Given the description of an element on the screen output the (x, y) to click on. 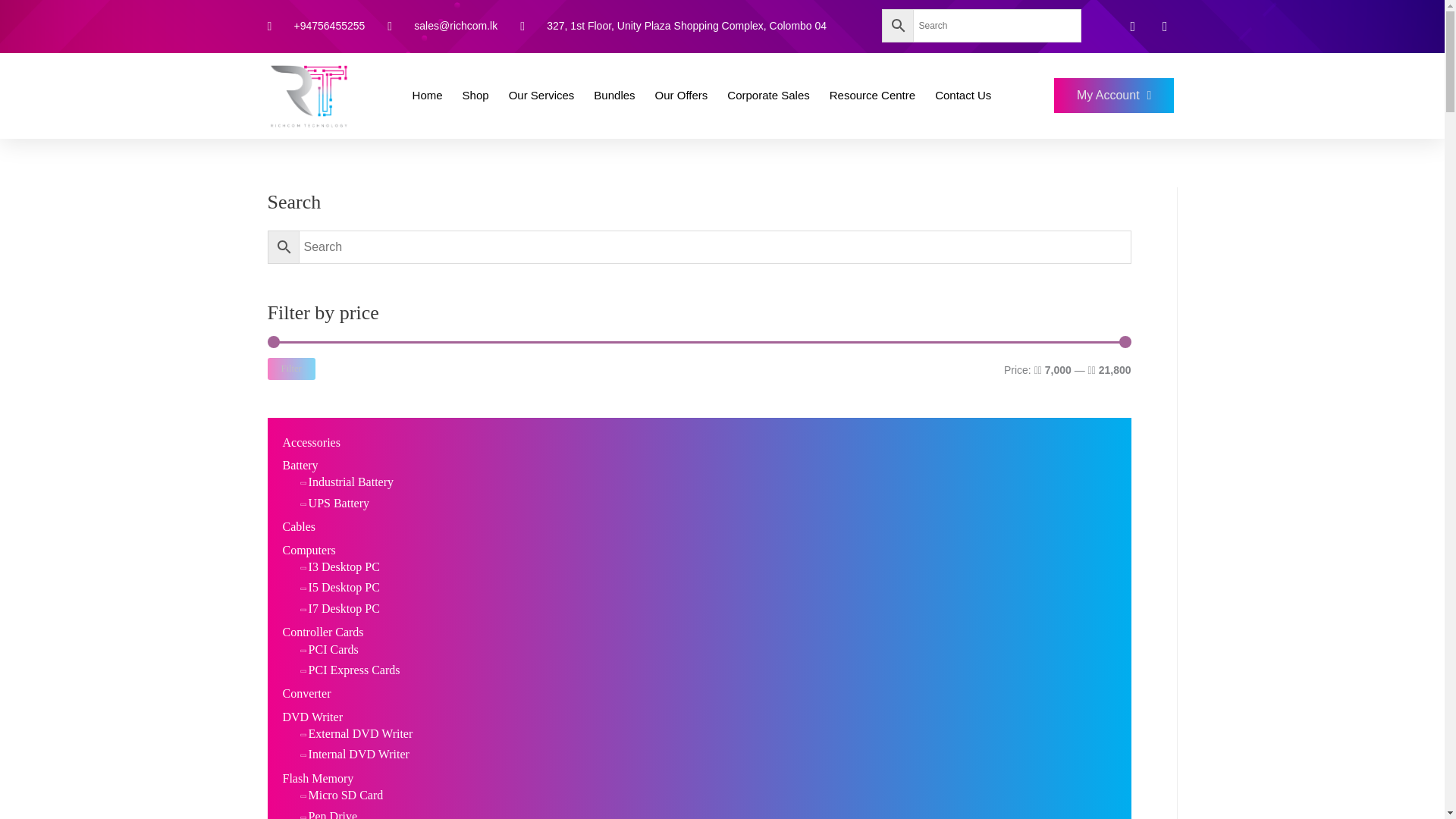
Contact Us (962, 95)
My Account (1114, 95)
Our Offers (681, 95)
Bundles (614, 95)
Shop (475, 95)
Home (426, 95)
Resource Centre (872, 95)
Our Services (541, 95)
Corporate Sales (767, 95)
